Given the description of an element on the screen output the (x, y) to click on. 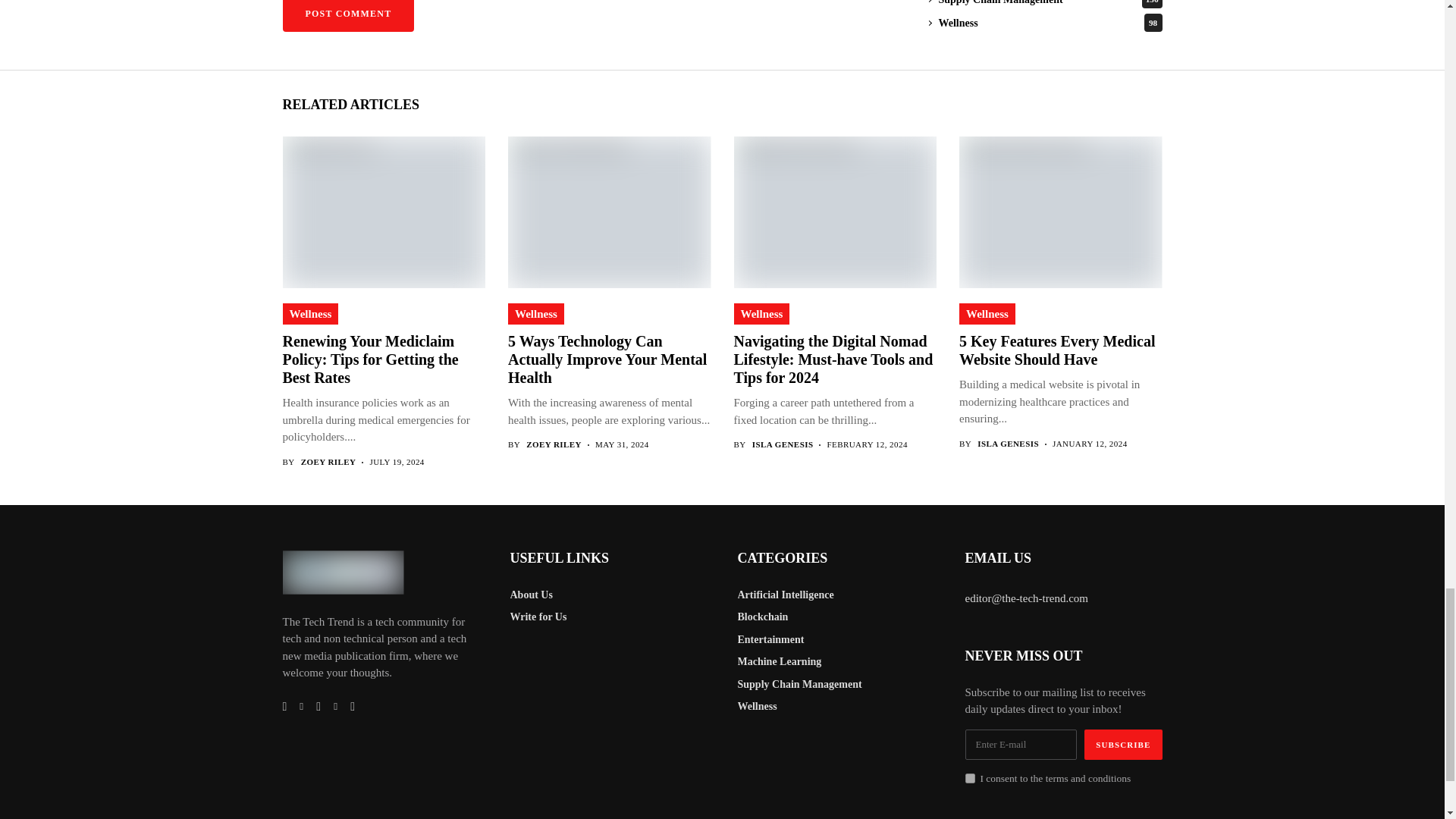
Posts by Isla Genesis (1007, 443)
1 (968, 777)
Posts by Zoey Riley (552, 444)
Posts by Isla Genesis (782, 444)
Subscribe (1122, 744)
Post Comment (347, 15)
Posts by Zoey Riley (328, 461)
